Given the description of an element on the screen output the (x, y) to click on. 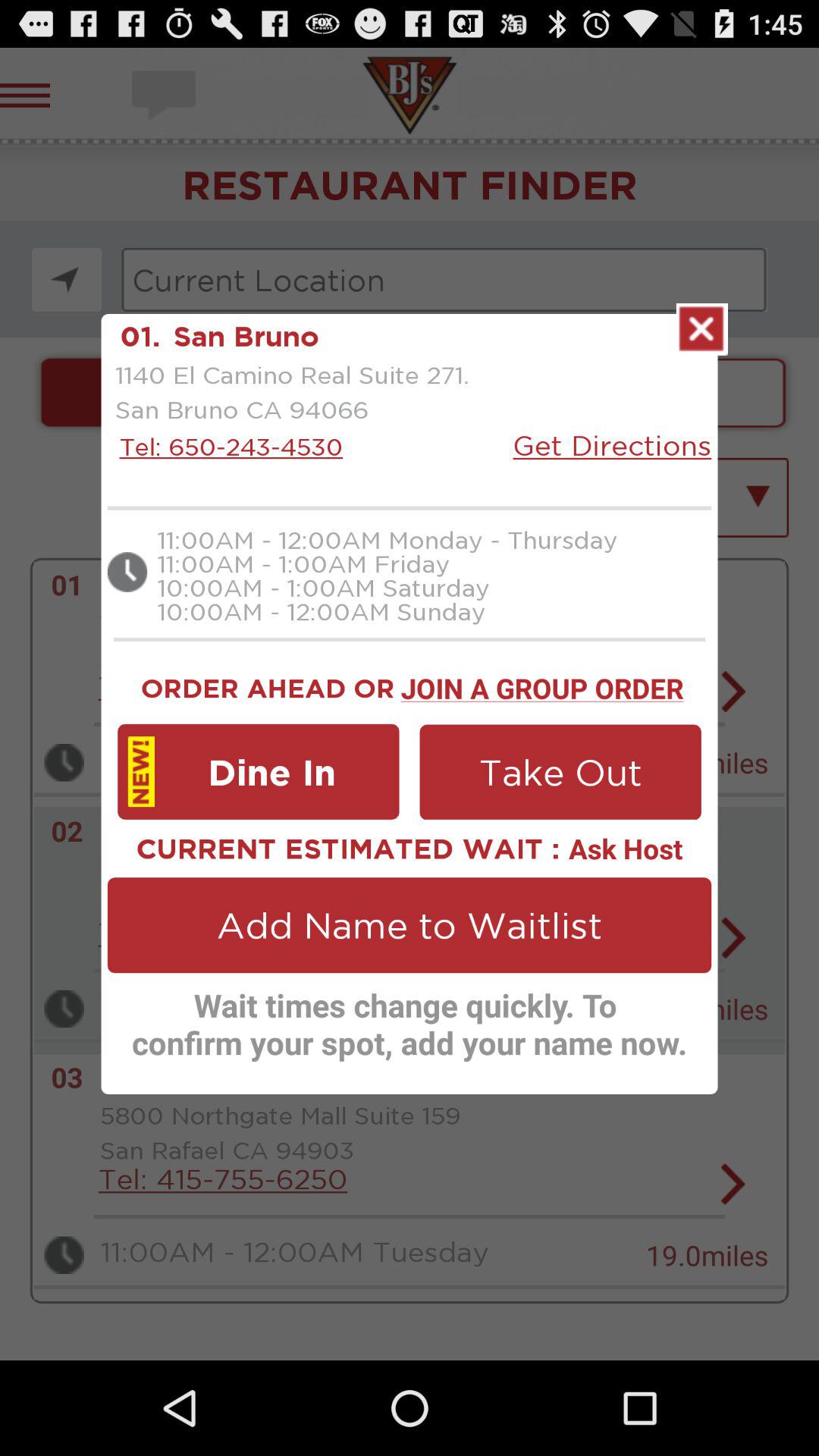
tap the get directions (612, 444)
